Given the description of an element on the screen output the (x, y) to click on. 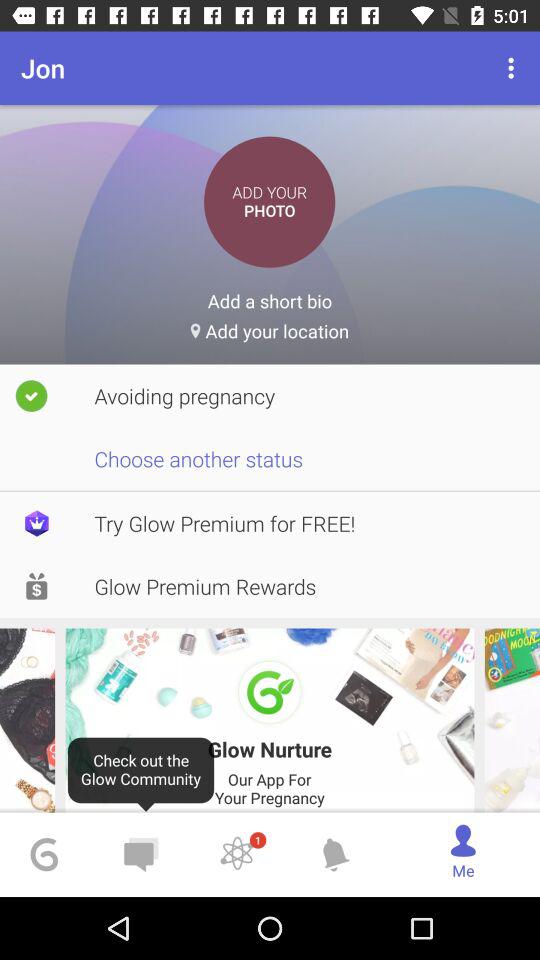
click on the icon below check out the glow community (140, 855)
